Given the description of an element on the screen output the (x, y) to click on. 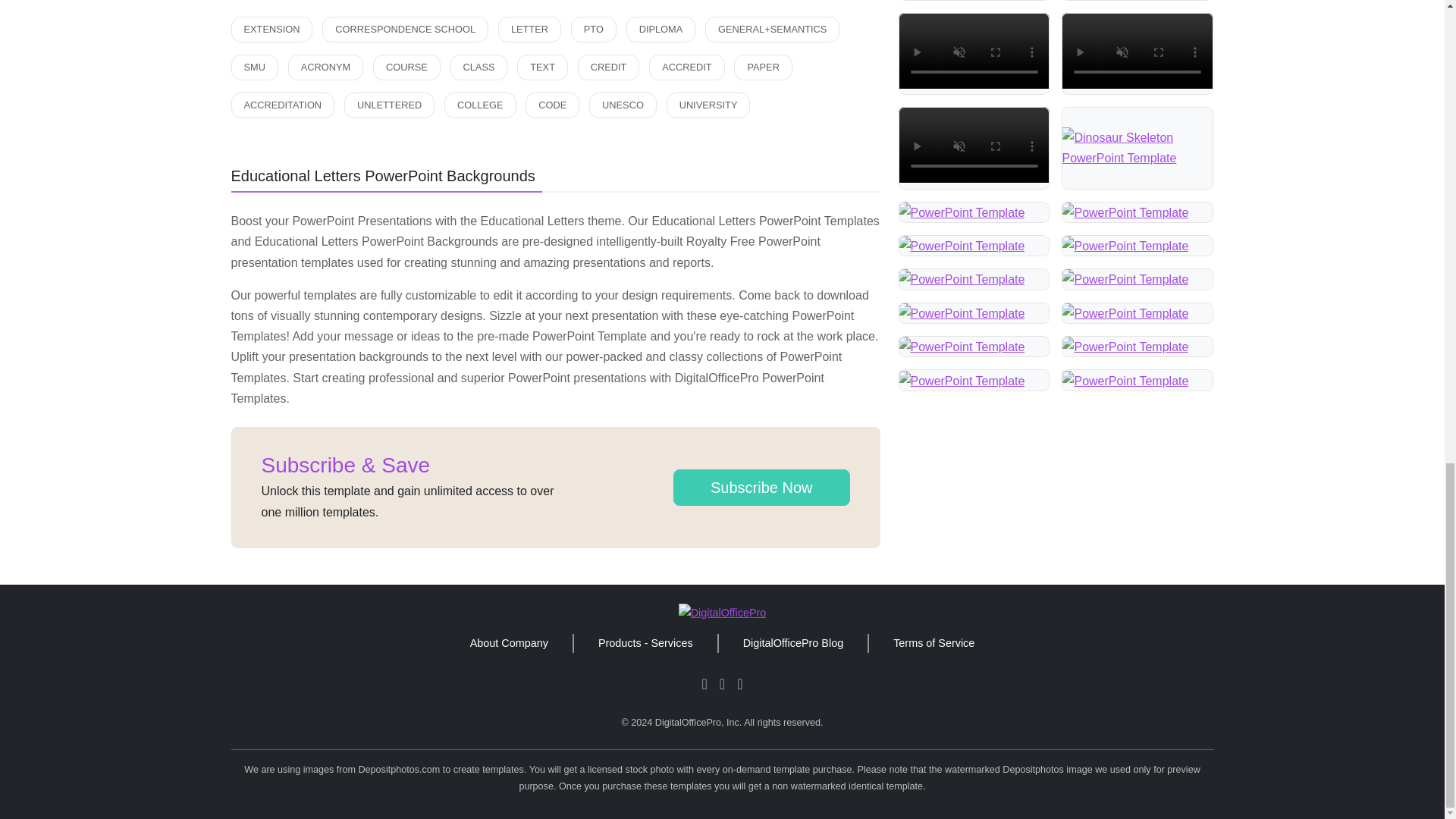
ACRONYM (325, 67)
acronym powerpoint templates (325, 67)
LETTER (528, 29)
letter powerpoint templates (528, 29)
CREDIT (609, 67)
correspondence school powerpoint templates (404, 29)
unlettered powerpoint templates (388, 104)
paper powerpoint templates (762, 67)
SMU (254, 67)
accredit powerpoint templates (686, 67)
